Given the description of an element on the screen output the (x, y) to click on. 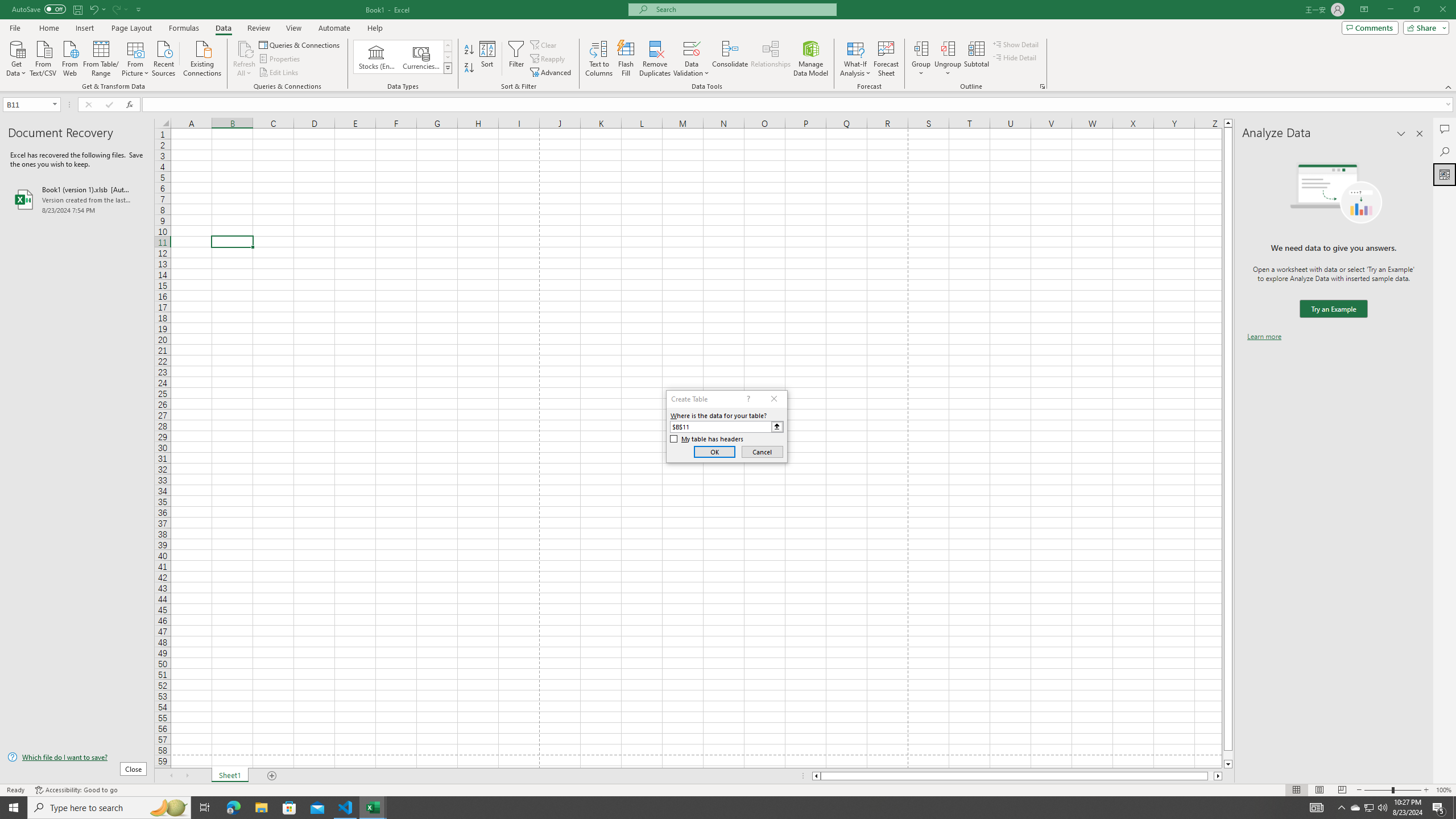
Existing Connections (202, 57)
Recent Sources (163, 57)
Remove Duplicates (654, 58)
Relationships (770, 58)
